Given the description of an element on the screen output the (x, y) to click on. 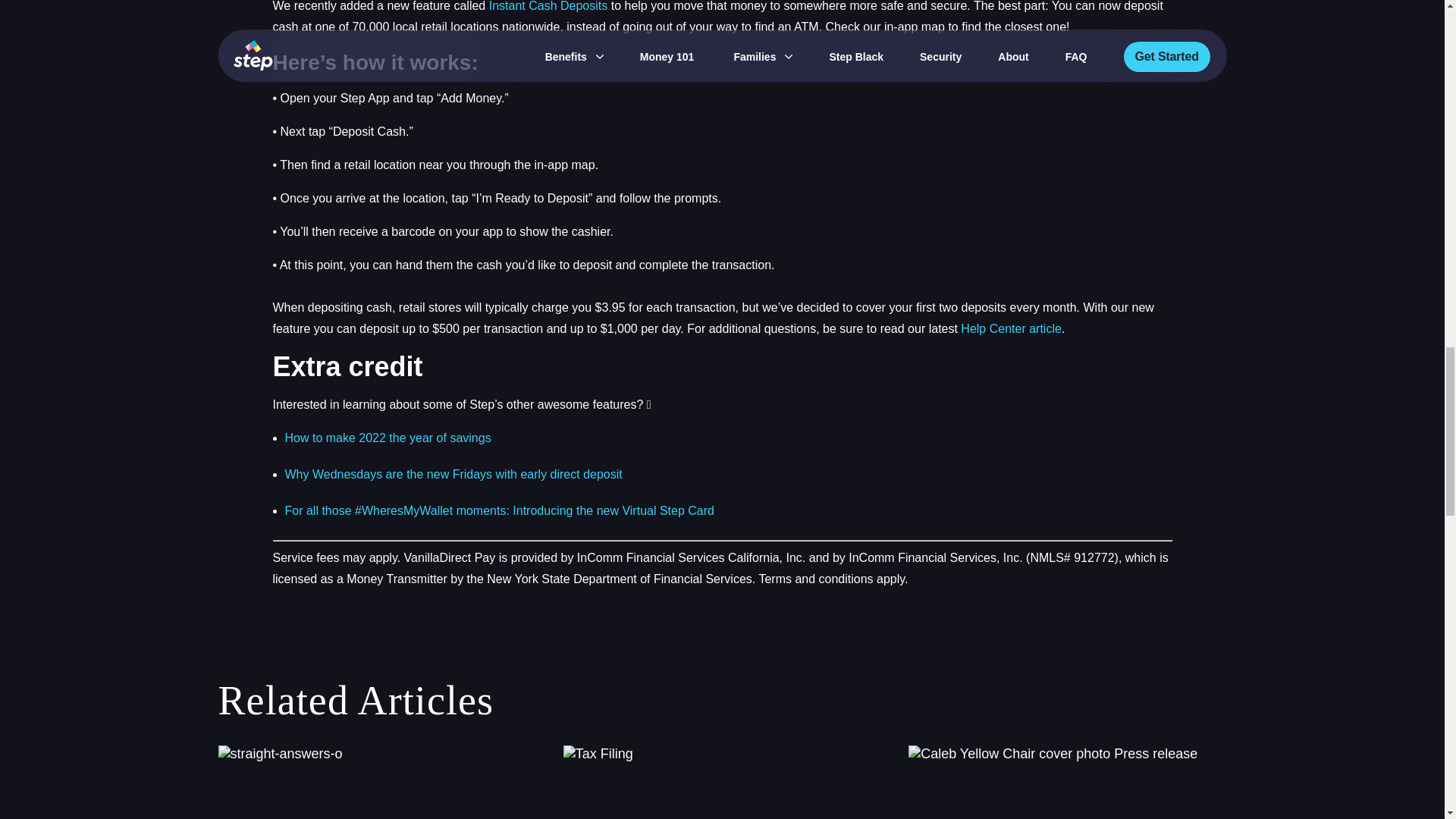
Help Center article (721, 782)
Instant Cash Deposits (1010, 328)
How to make 2022 the year of savings (376, 782)
Why Wednesdays are the new Fridays with early direct deposit (548, 6)
